Given the description of an element on the screen output the (x, y) to click on. 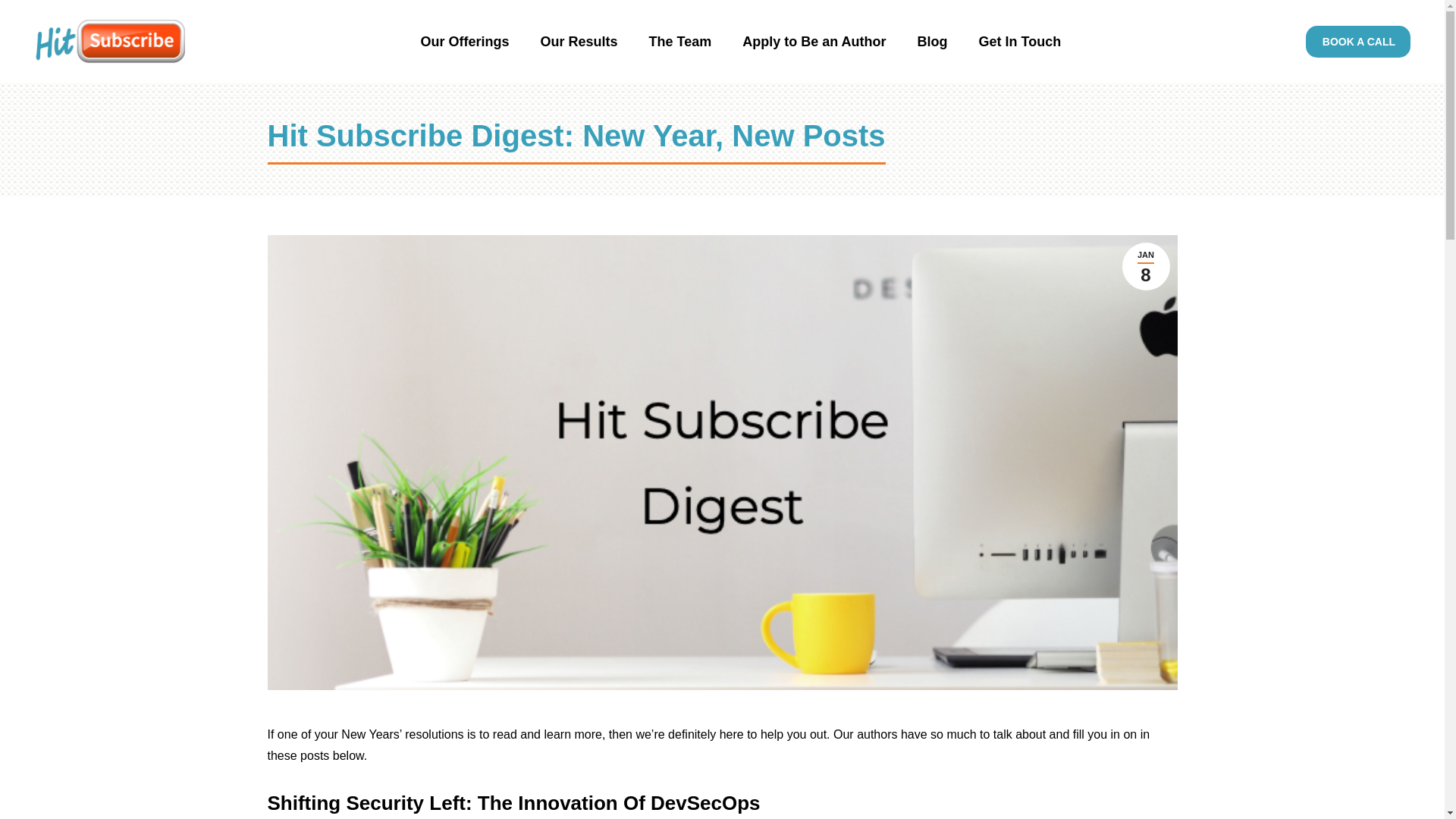
BOOK A CALL (1358, 41)
Apply to Be an Author (813, 41)
5:18 pm (1146, 266)
Get In Touch (1146, 266)
Hit Subscribe Digest-7 (1020, 41)
Our Results (679, 41)
Our Offerings (579, 41)
